Given the description of an element on the screen output the (x, y) to click on. 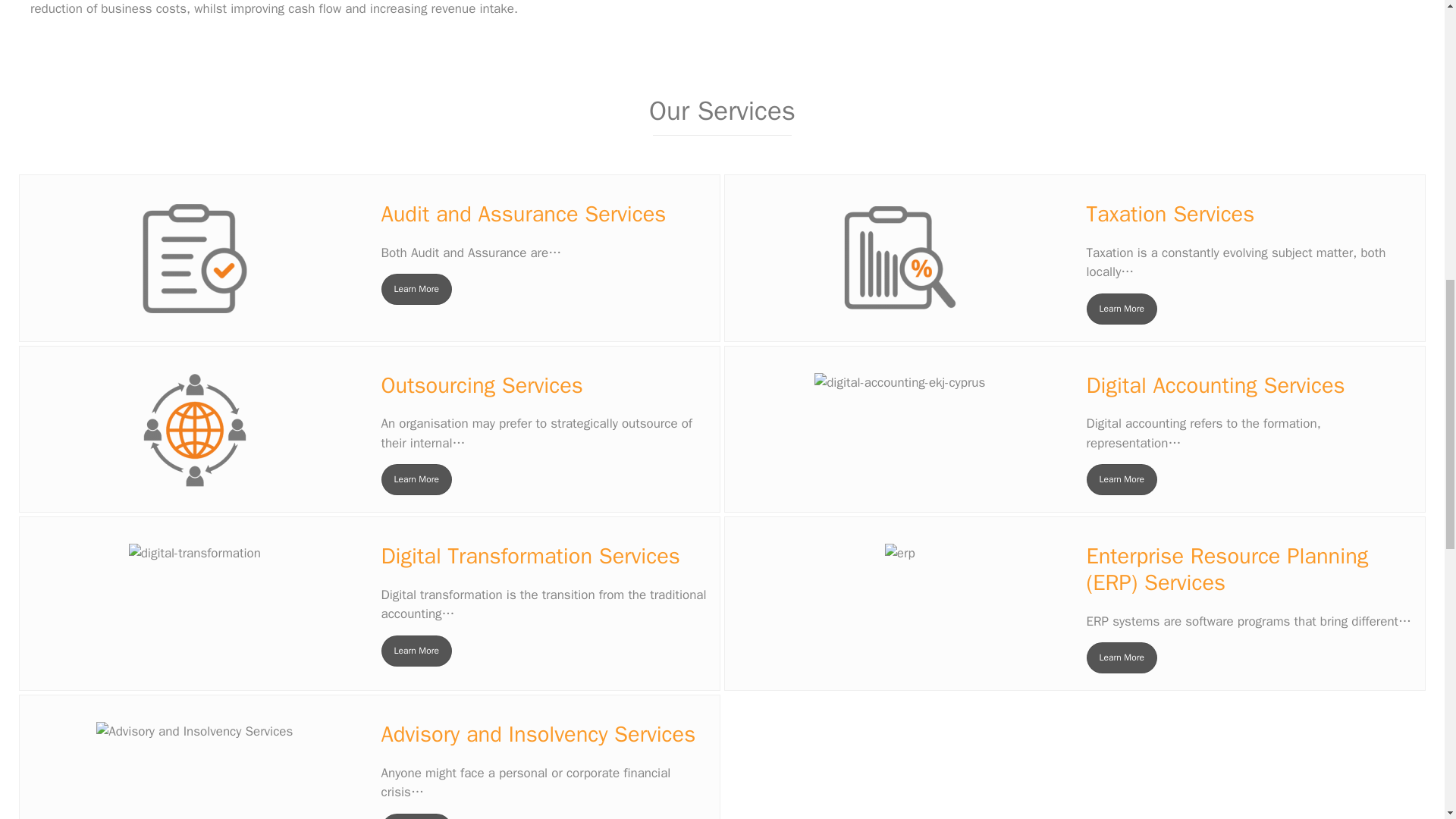
Learn More (1121, 308)
digital-accounting-ekj-cyprus (899, 383)
Tax Services (1121, 308)
audit-assurance (194, 258)
Learn More (415, 288)
Learn More (1121, 479)
tax-services (899, 258)
Learn More (415, 816)
Outsourcing Services (415, 479)
Advisory and Insolvency Services (194, 731)
Advisory and Insolvency Services (415, 816)
Audit and Assurance Services (415, 288)
Digital Transformation Services (415, 650)
erp (900, 553)
Learn More (415, 479)
